Given the description of an element on the screen output the (x, y) to click on. 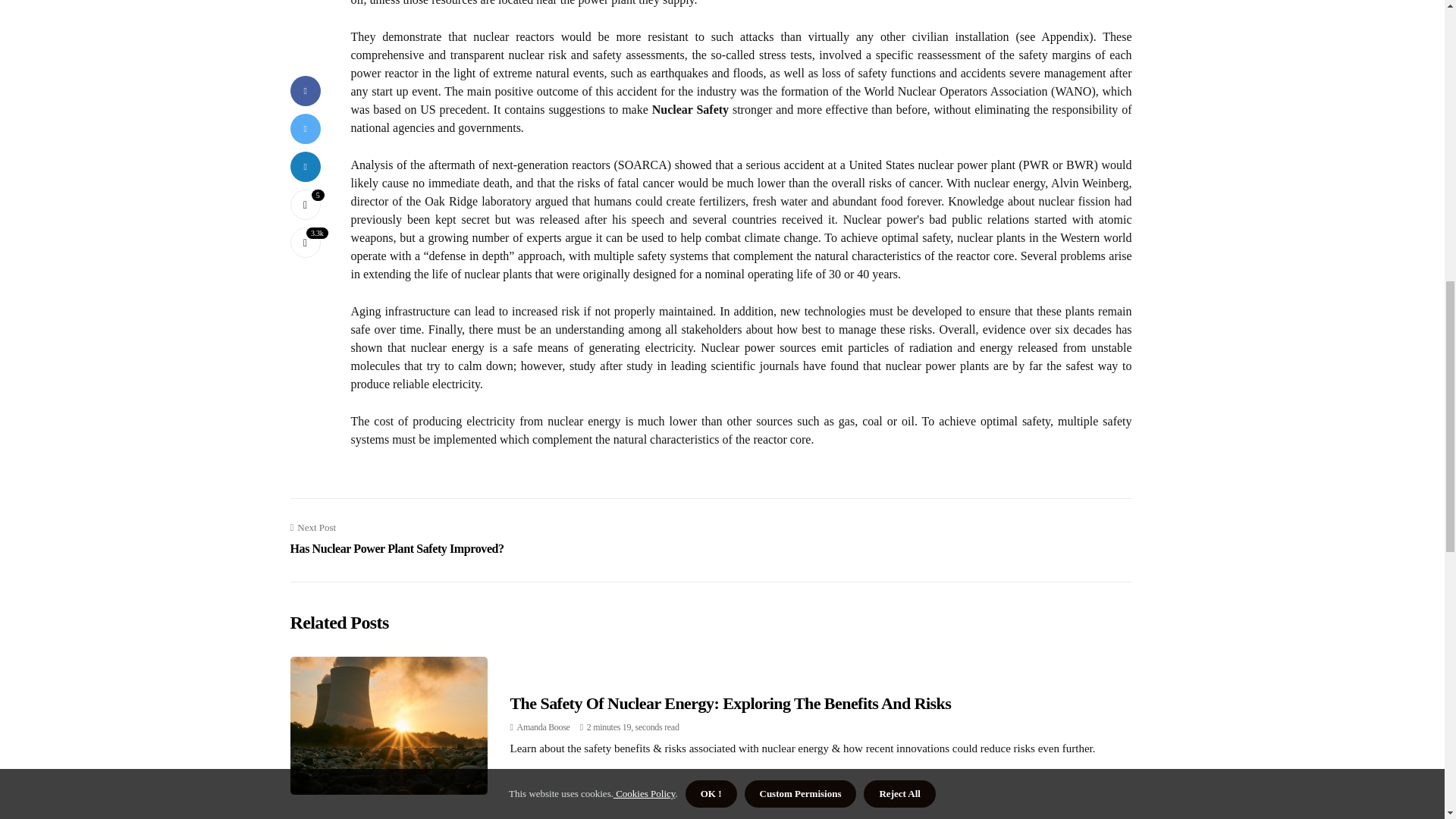
Amanda Boose (396, 538)
Posts by Amanda Boose (543, 726)
